Given the description of an element on the screen output the (x, y) to click on. 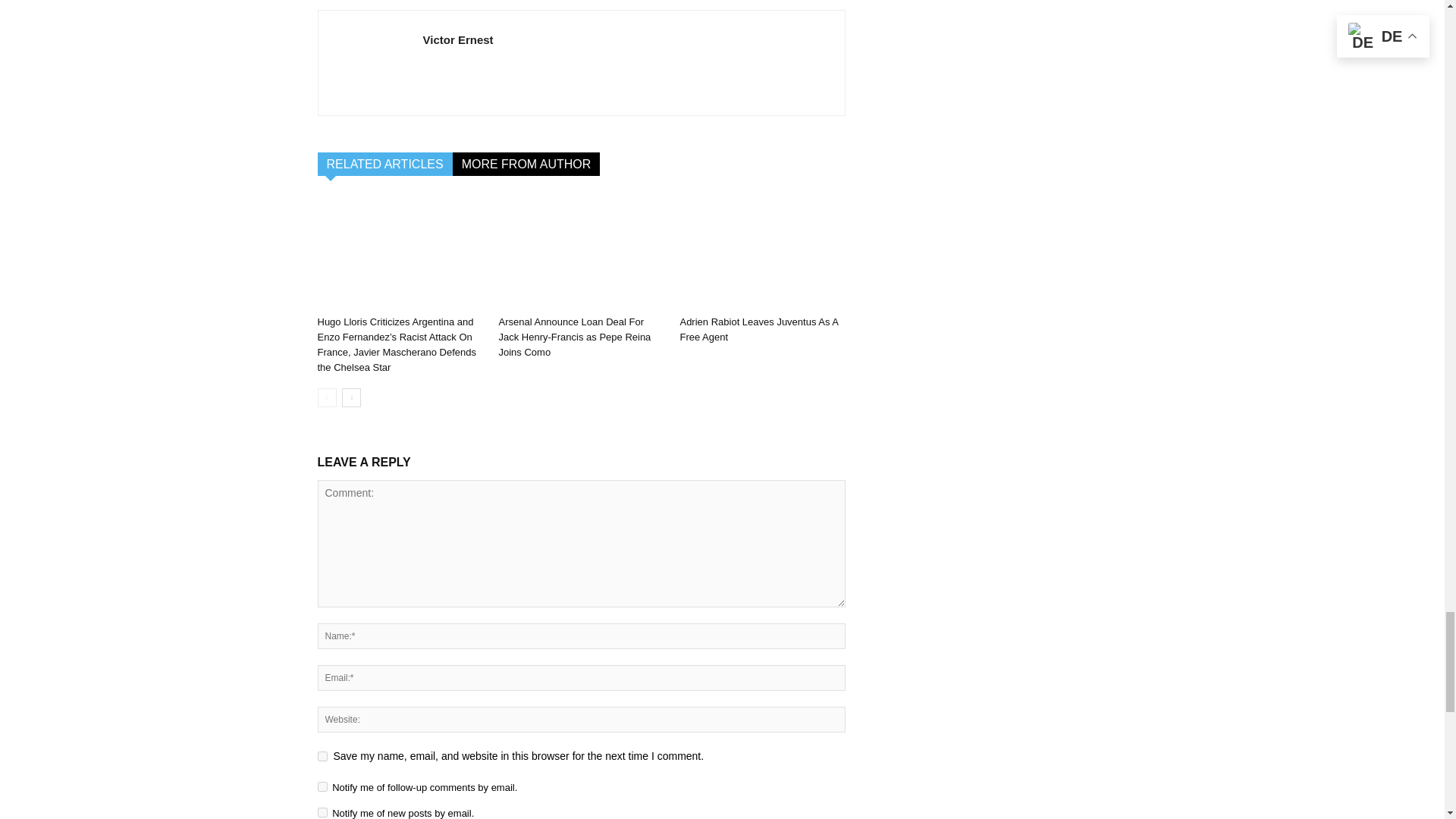
subscribe (321, 812)
subscribe (321, 786)
yes (321, 756)
